Given the description of an element on the screen output the (x, y) to click on. 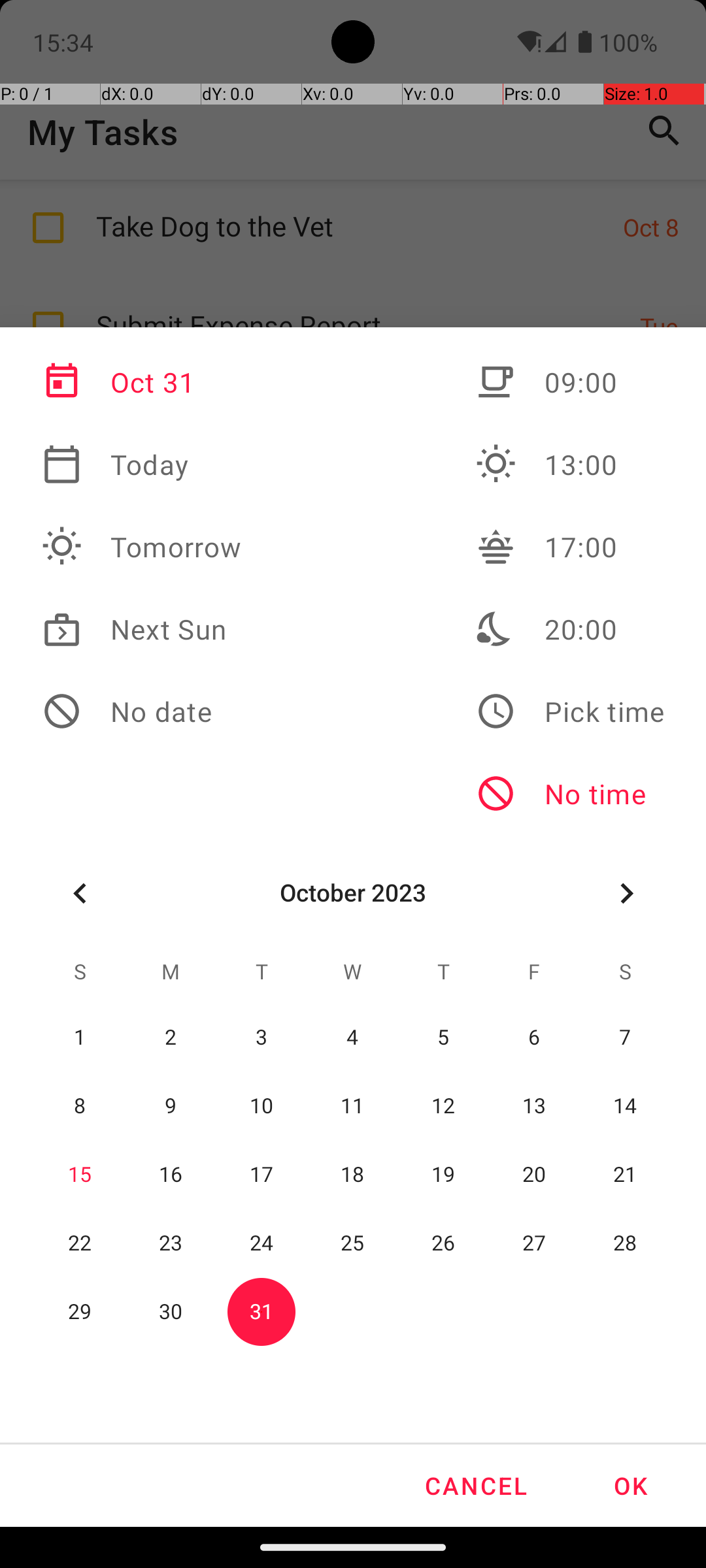
Oct 31 Element type: android.widget.CompoundButton (141, 382)
